Given the description of an element on the screen output the (x, y) to click on. 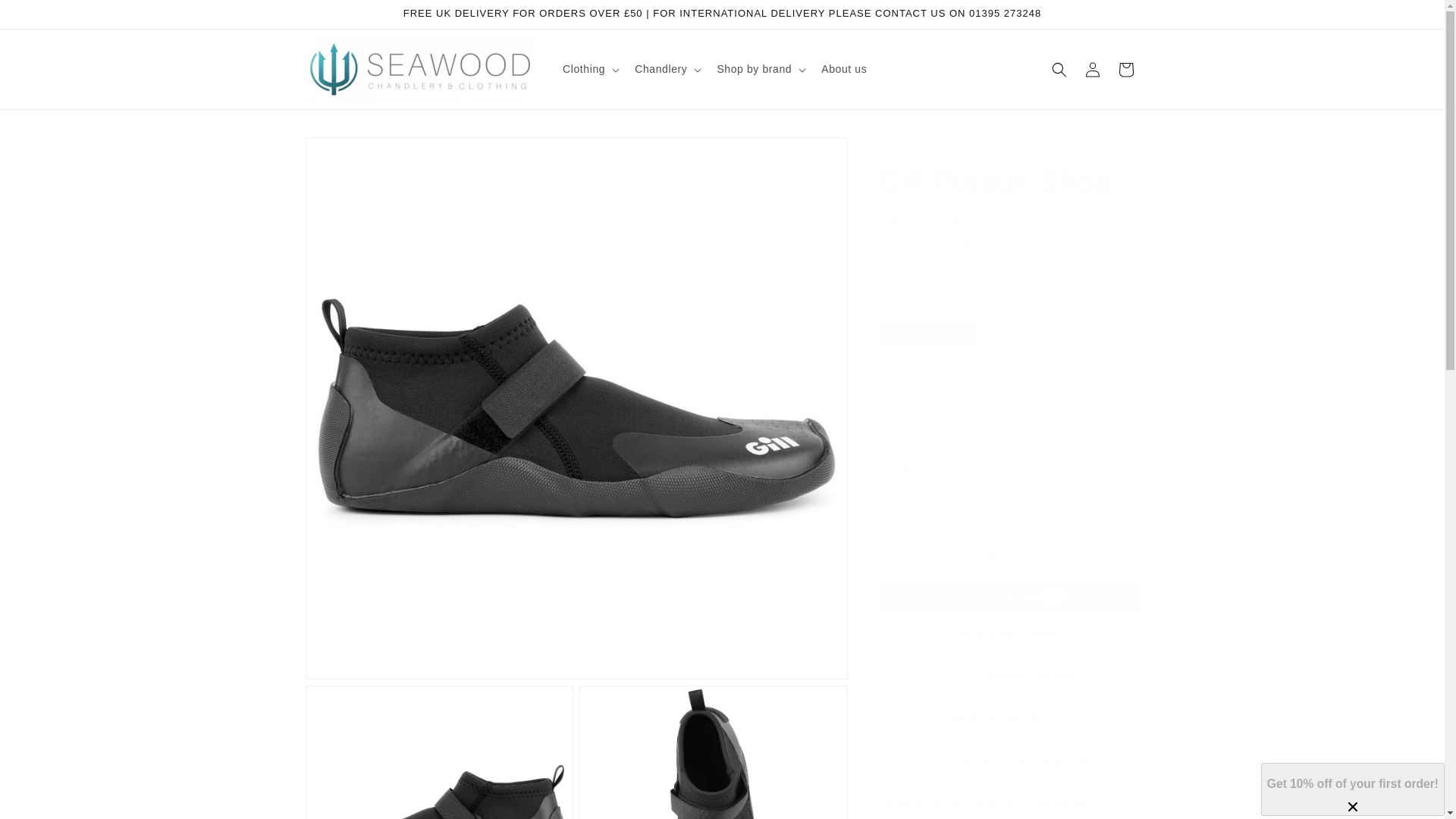
Skip to content (45, 17)
Open media 3 in modal (713, 752)
Open media 2 in modal (438, 752)
1 (931, 498)
